Given the description of an element on the screen output the (x, y) to click on. 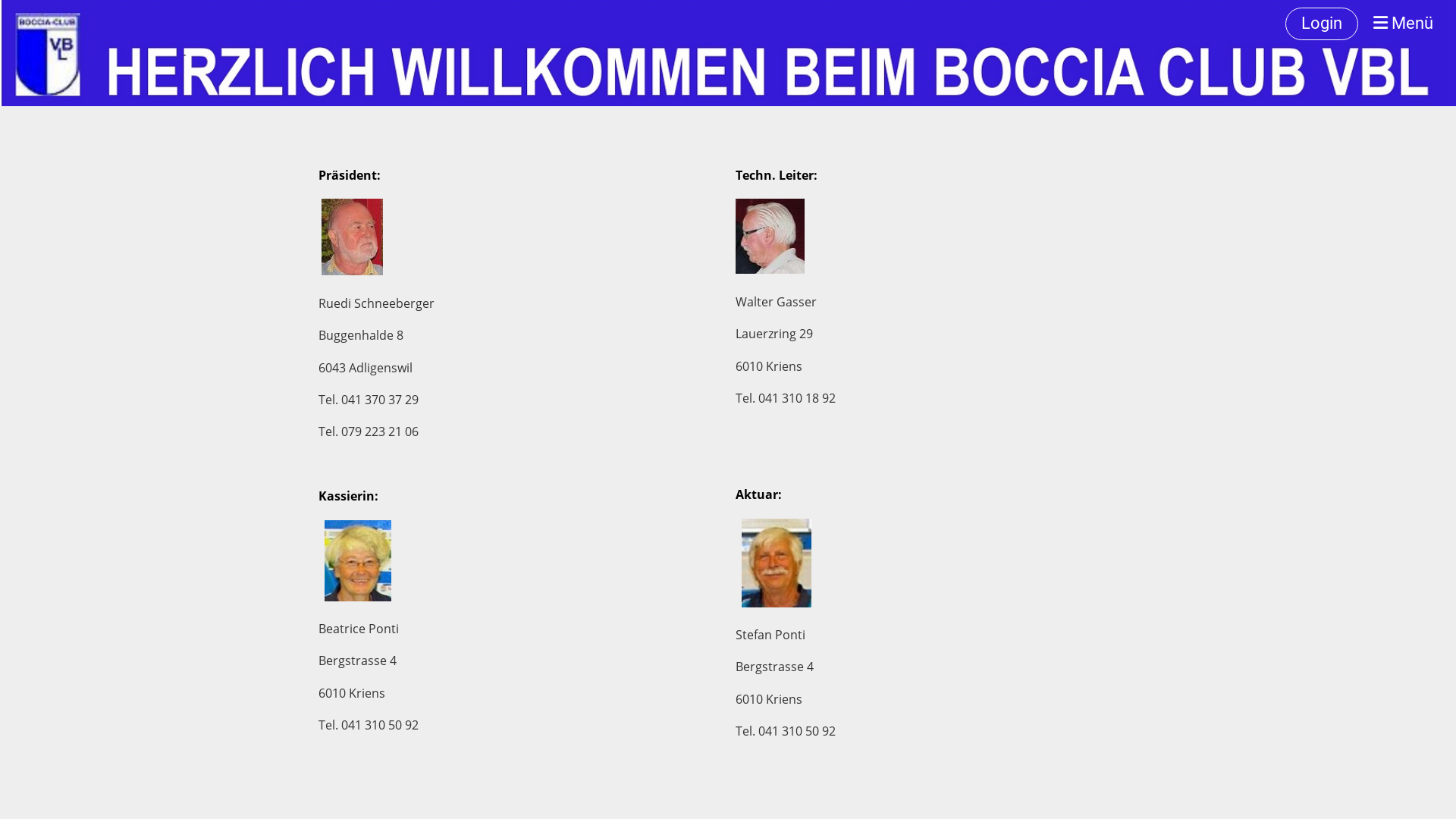
Login Element type: text (1321, 23)
